Given the description of an element on the screen output the (x, y) to click on. 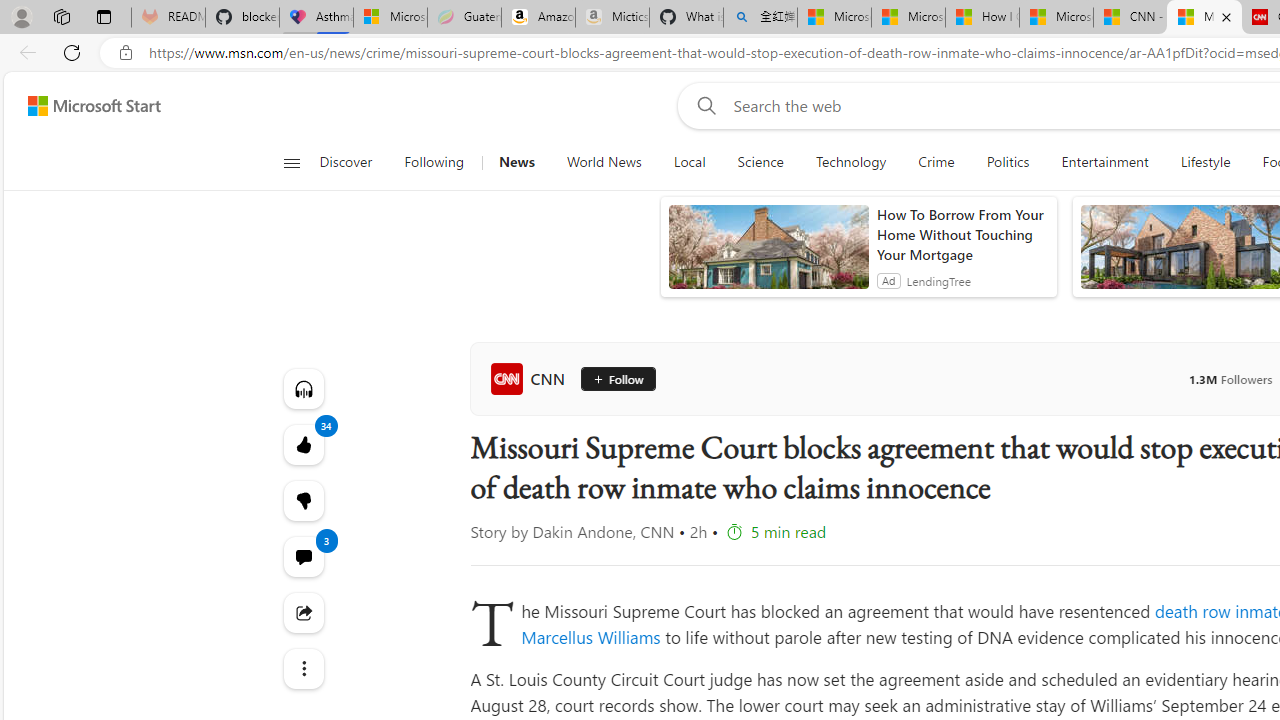
Listen to this article (302, 388)
How To Borrow From Your Home Without Touching Your Mortgage (962, 234)
Politics (1007, 162)
How I Got Rid of Microsoft Edge's Unnecessary Features (981, 17)
Crime (935, 162)
Science (760, 162)
CNN (531, 378)
Class: button-glyph (290, 162)
Discover (345, 162)
34 (302, 500)
View comments 3 Comment (302, 556)
See more (302, 668)
Local (689, 162)
